Given the description of an element on the screen output the (x, y) to click on. 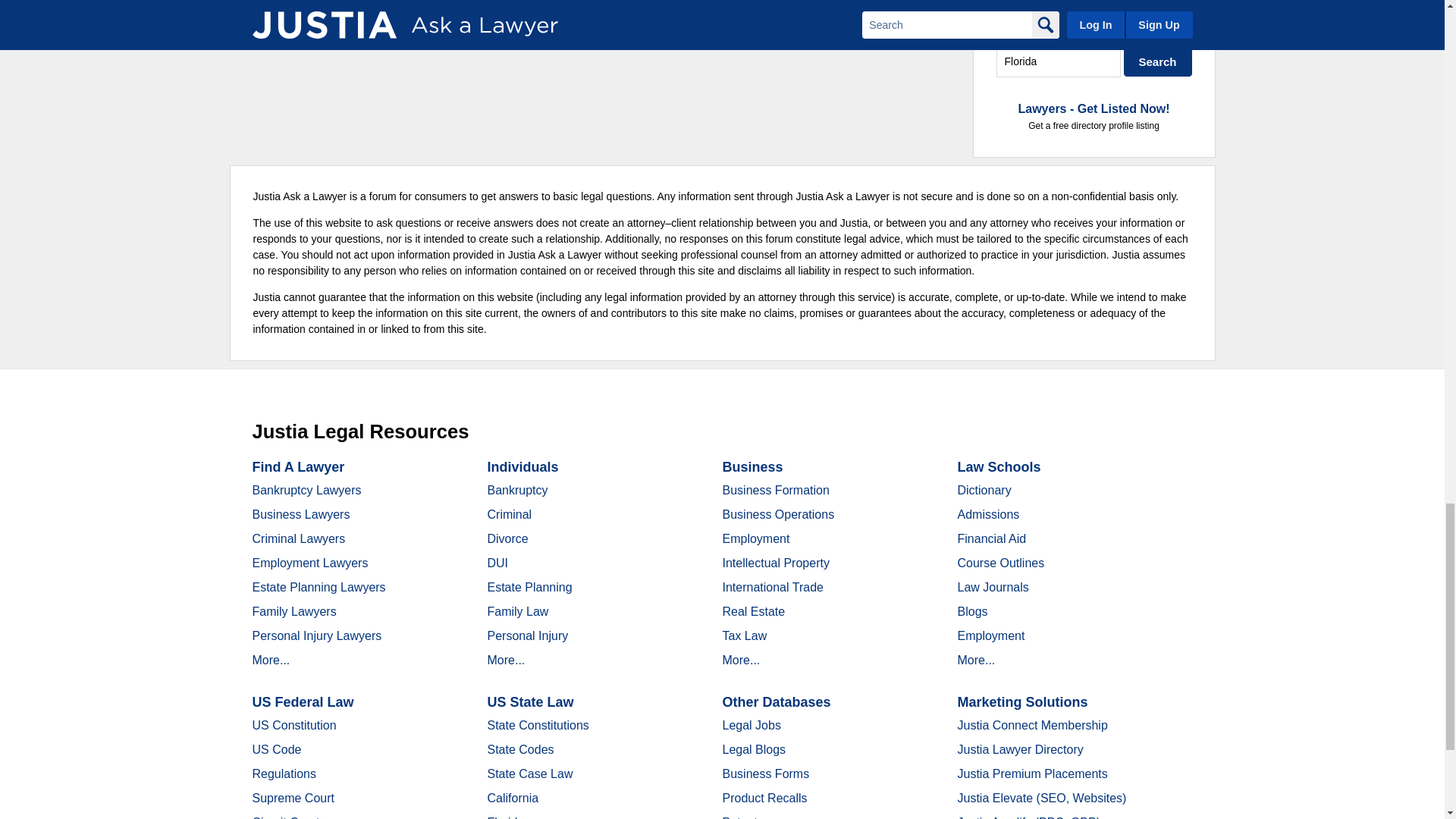
Real Estate Law (1093, 28)
City, State (1058, 61)
Search (1158, 61)
Search (1158, 61)
Florida (1058, 61)
Legal Issue or Lawyer Name (1093, 28)
